Given the description of an element on the screen output the (x, y) to click on. 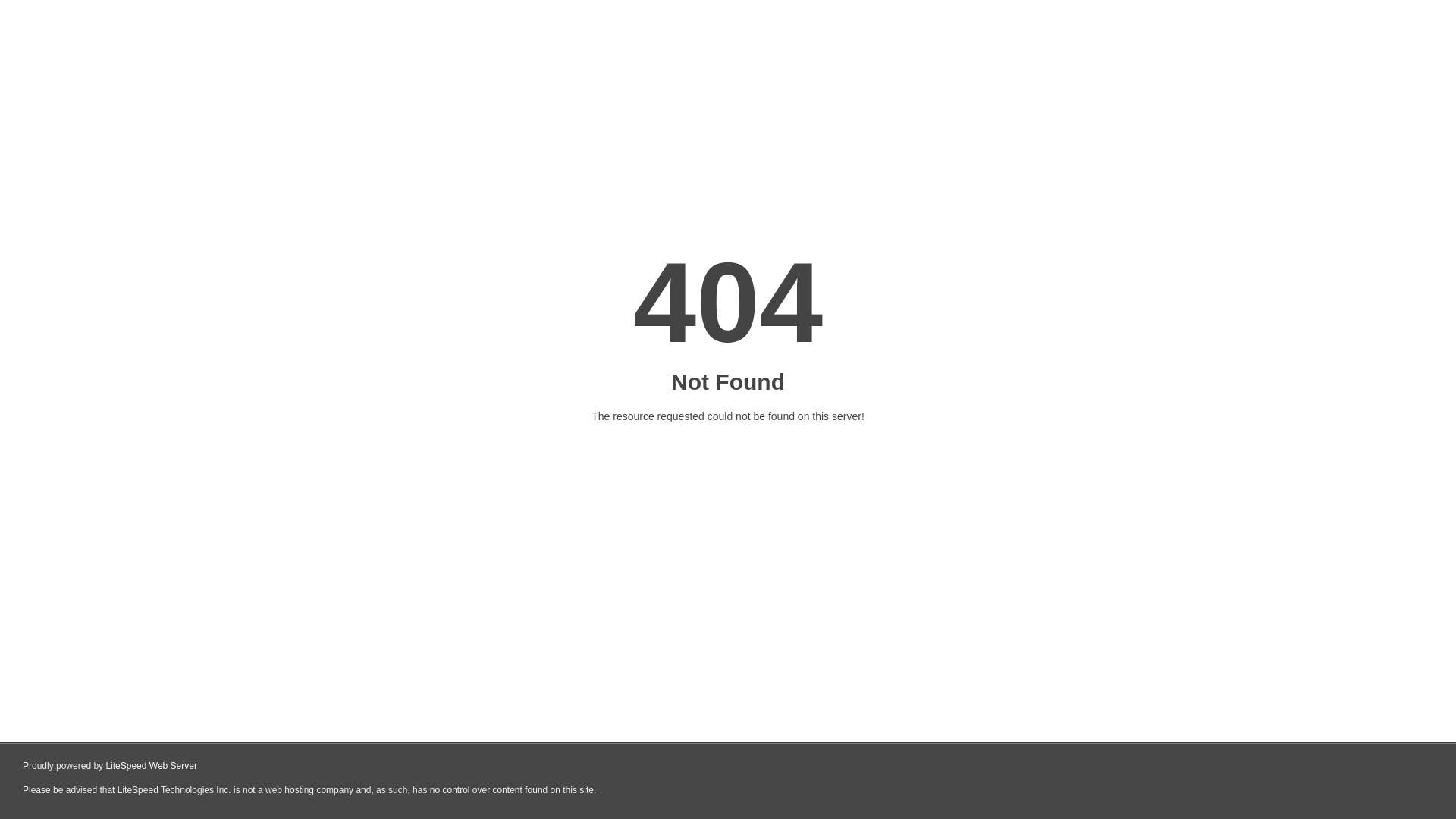
LiteSpeed Web Server Element type: text (151, 765)
